Given the description of an element on the screen output the (x, y) to click on. 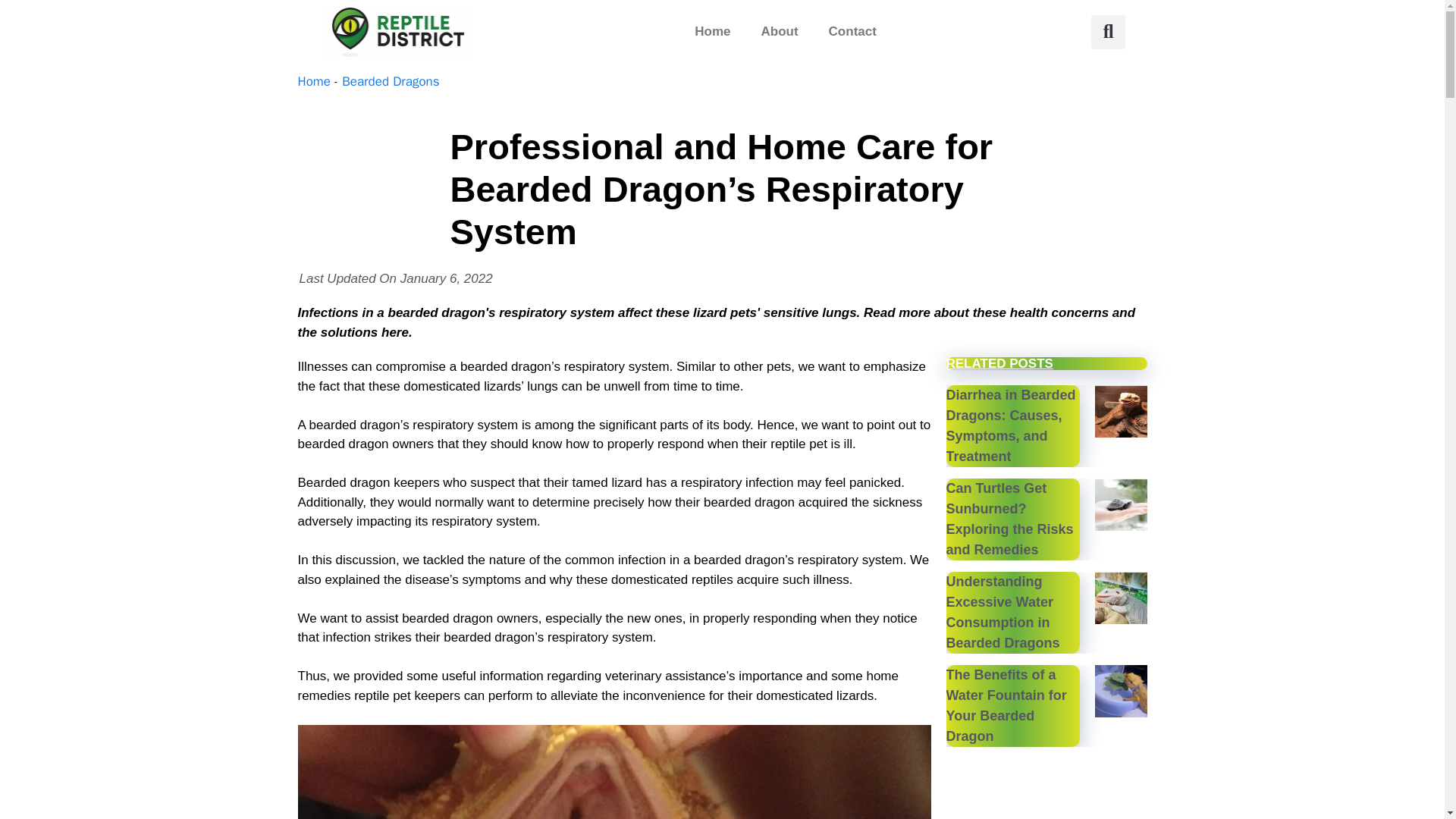
About (779, 31)
Bearded Dragons (390, 81)
reptiledistrict1-03 (398, 31)
The Benefits of a Water Fountain for Your Bearded Dragon (1006, 705)
Understanding Excessive Water Consumption in Bearded Dragons (1002, 612)
Can Turtles Get Sunburned? Exploring the Risks and Remedies (1010, 518)
Home (313, 81)
Home (712, 31)
Contact (852, 31)
Diarrhea in Bearded Dragons: Causes, Symptoms, and Treatment (1010, 425)
